Given the description of an element on the screen output the (x, y) to click on. 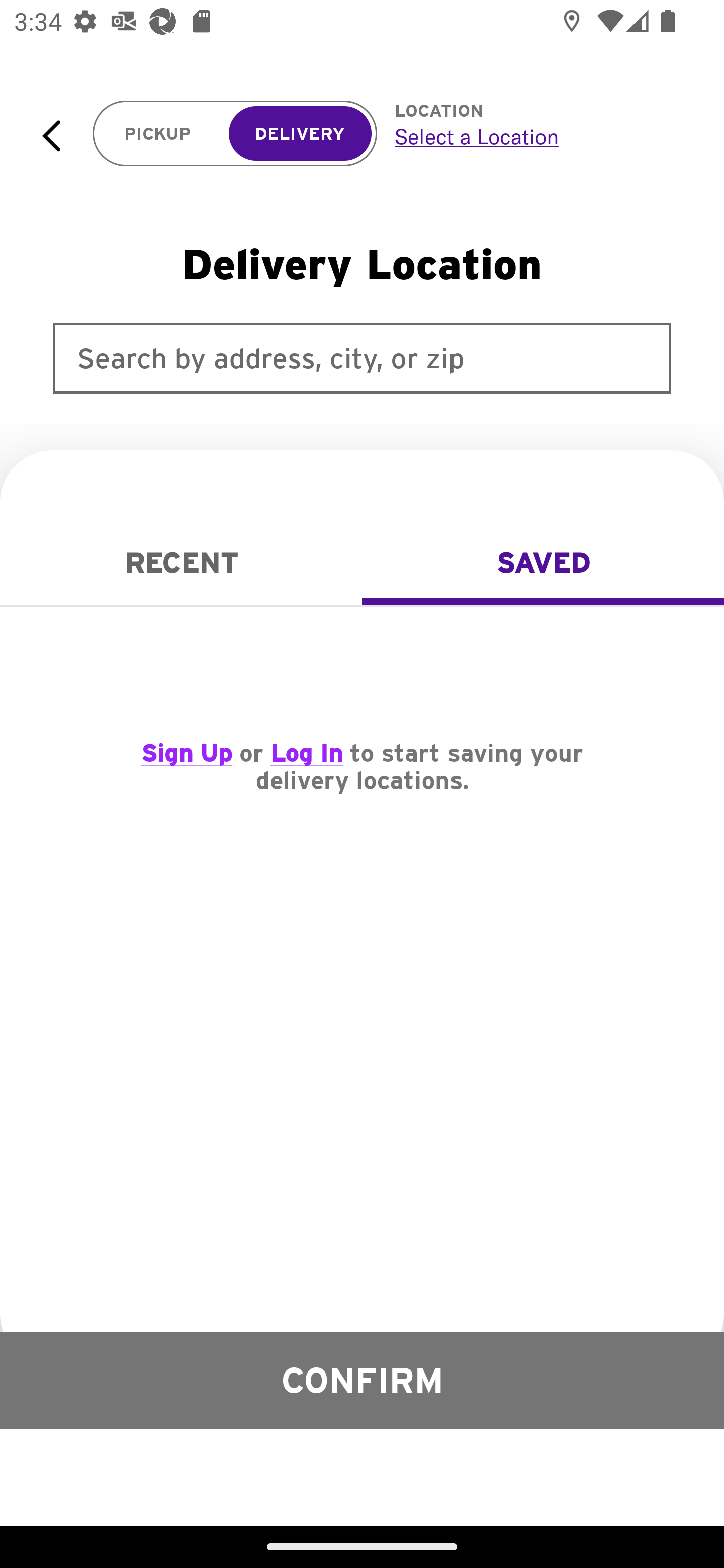
PICKUP (157, 133)
DELIVERY (299, 133)
Select a Location (536, 136)
Search by address, city, or zip (361, 358)
Recent RECENT (181, 562)
CONFIRM (362, 1379)
